Given the description of an element on the screen output the (x, y) to click on. 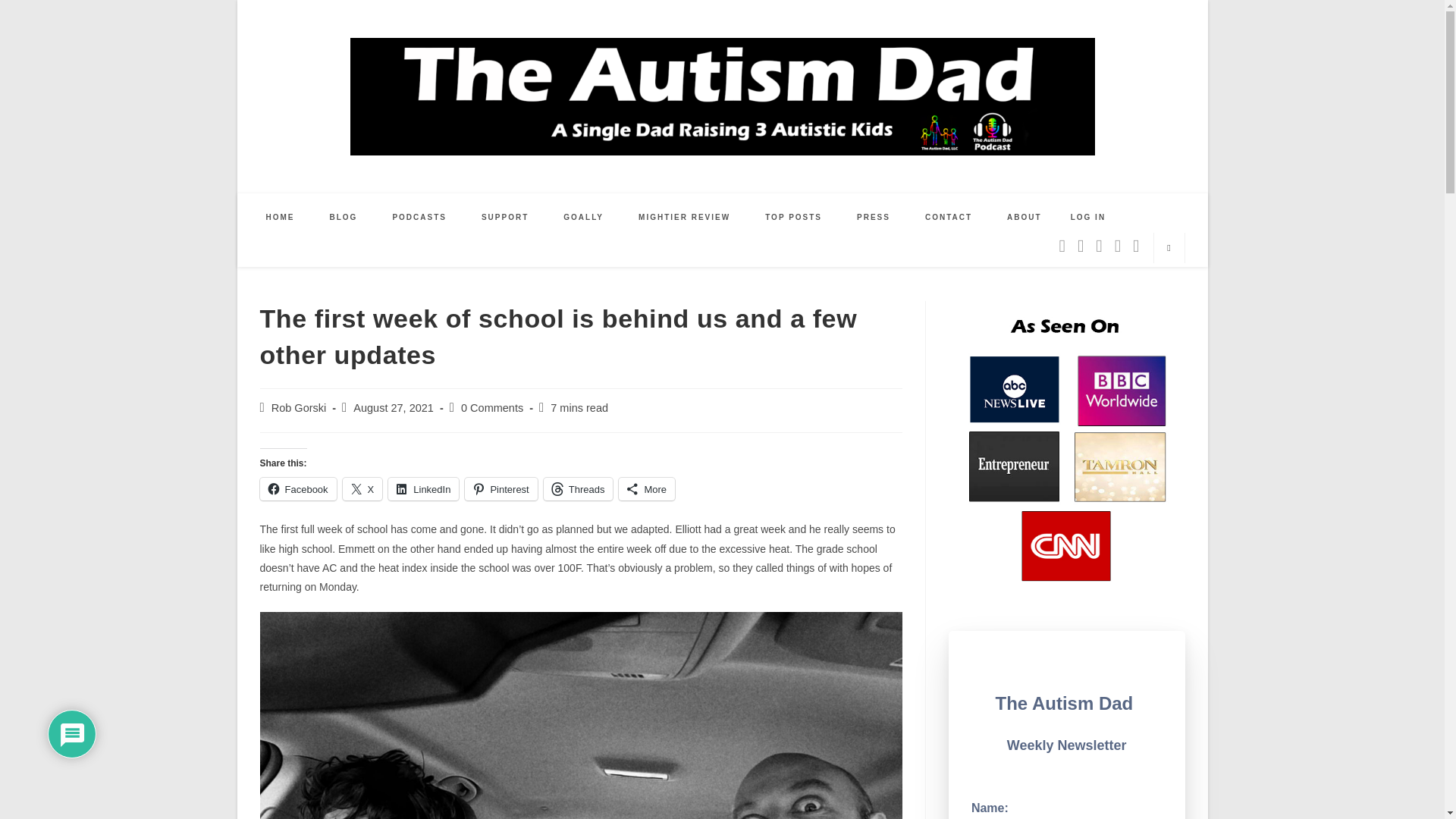
GOALLY (583, 217)
SUPPORT (505, 217)
PODCASTS (419, 217)
Posts by Rob Gorski (298, 408)
Facebook (297, 488)
LOG IN (1087, 217)
TOP POSTS (794, 217)
BLOG (344, 217)
Click to share on Pinterest (500, 488)
Click to share on LinkedIn (423, 488)
Rob Gorski (298, 408)
Click to share on Facebook (297, 488)
ABOUT (1024, 217)
Click to share on X (362, 488)
PRESS (873, 217)
